Given the description of an element on the screen output the (x, y) to click on. 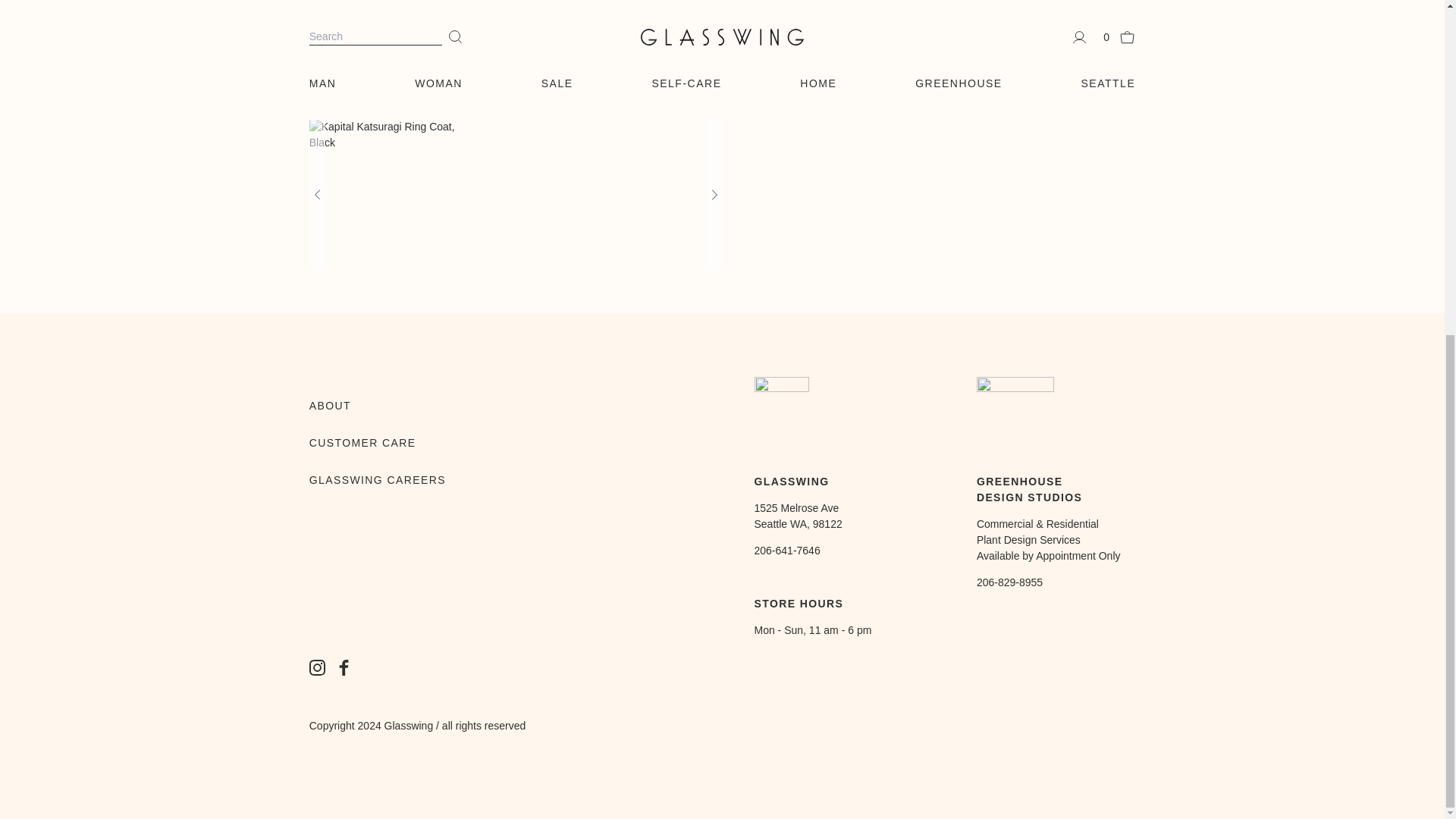
1 (815, 22)
tel:206-829-8955 (1009, 582)
Add To Cart (813, 62)
tel:206-641-7646 (786, 550)
